Given the description of an element on the screen output the (x, y) to click on. 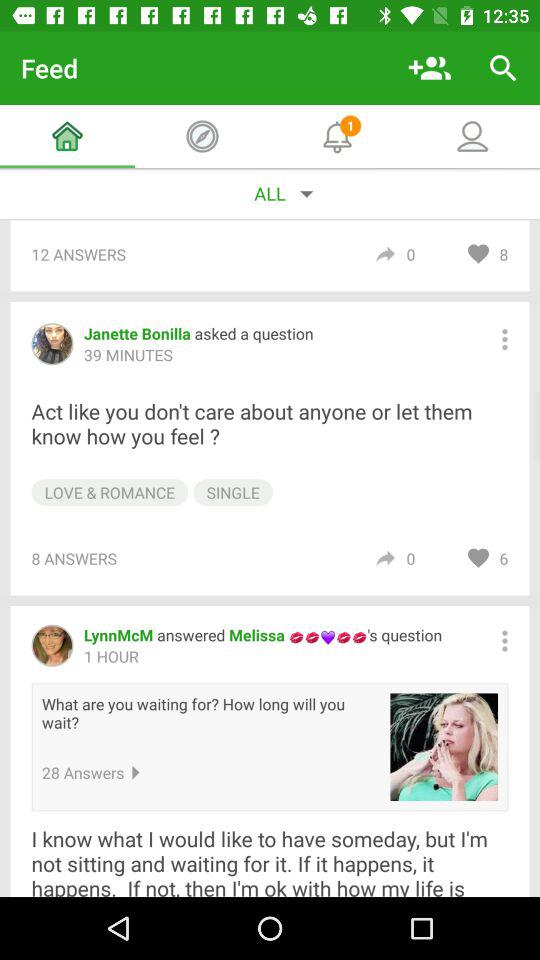
press app to the right of feed (429, 67)
